Given the description of an element on the screen output the (x, y) to click on. 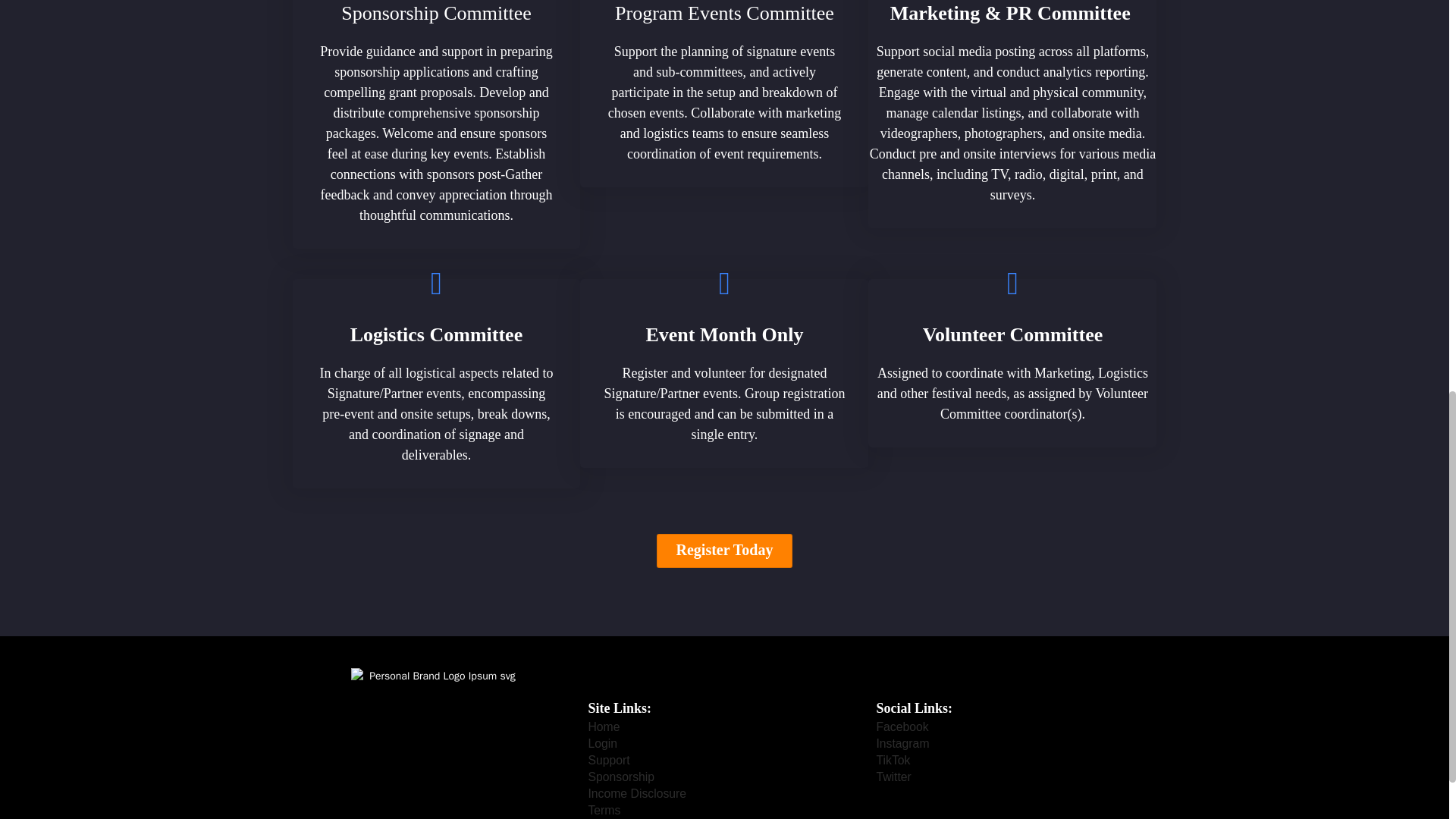
TikTok (893, 760)
Instagram (902, 743)
Income Disclosure (636, 793)
Register Today (724, 550)
Login (602, 743)
Home (604, 727)
Support (608, 760)
Terms (604, 810)
Facebook (902, 727)
Sponsorship (620, 777)
Twitter (893, 777)
